Given the description of an element on the screen output the (x, y) to click on. 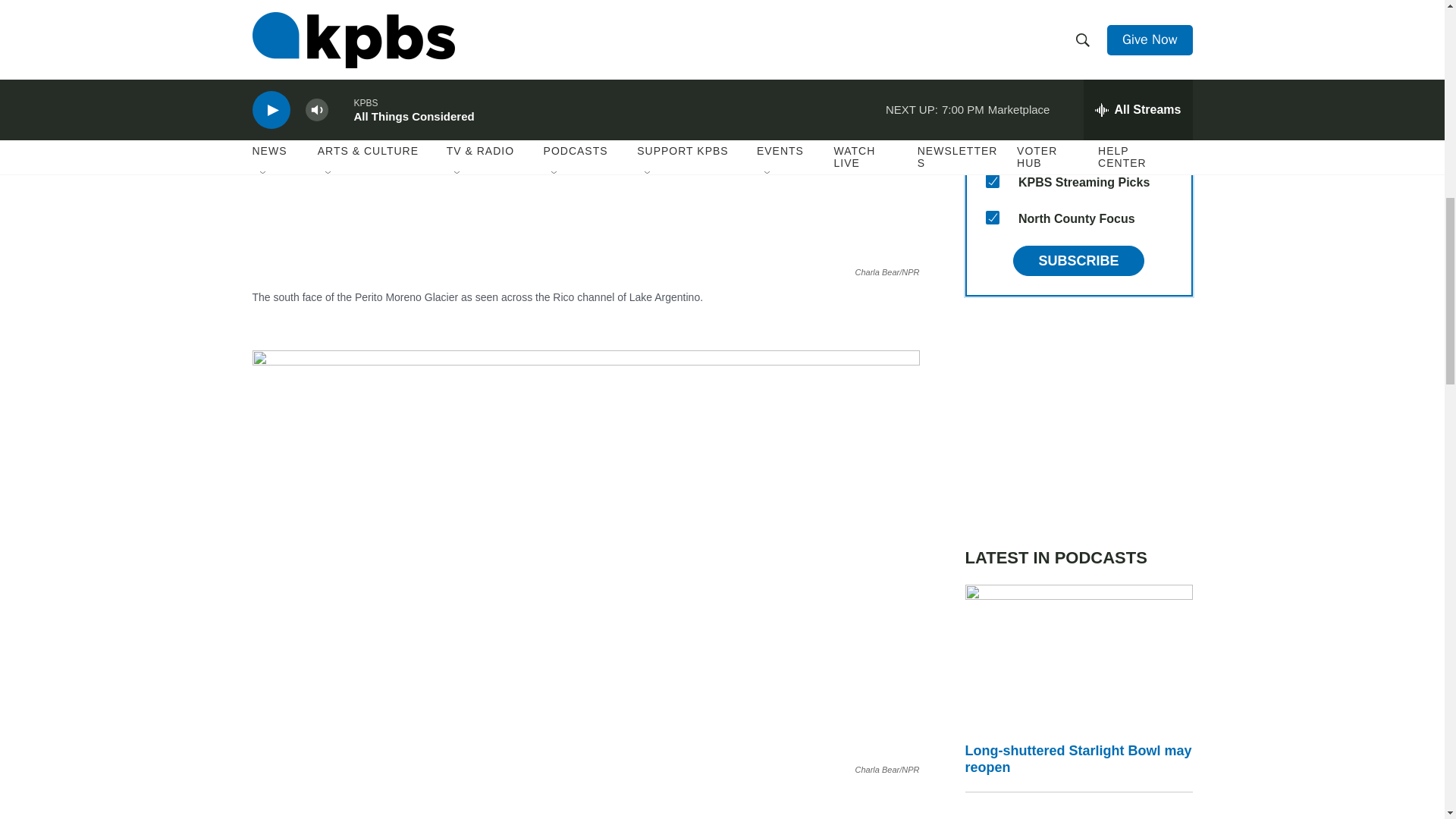
5 (991, 35)
4 (991, 2)
6 (991, 71)
15 (991, 217)
2 (991, 108)
1 (991, 144)
8 (991, 181)
